Given the description of an element on the screen output the (x, y) to click on. 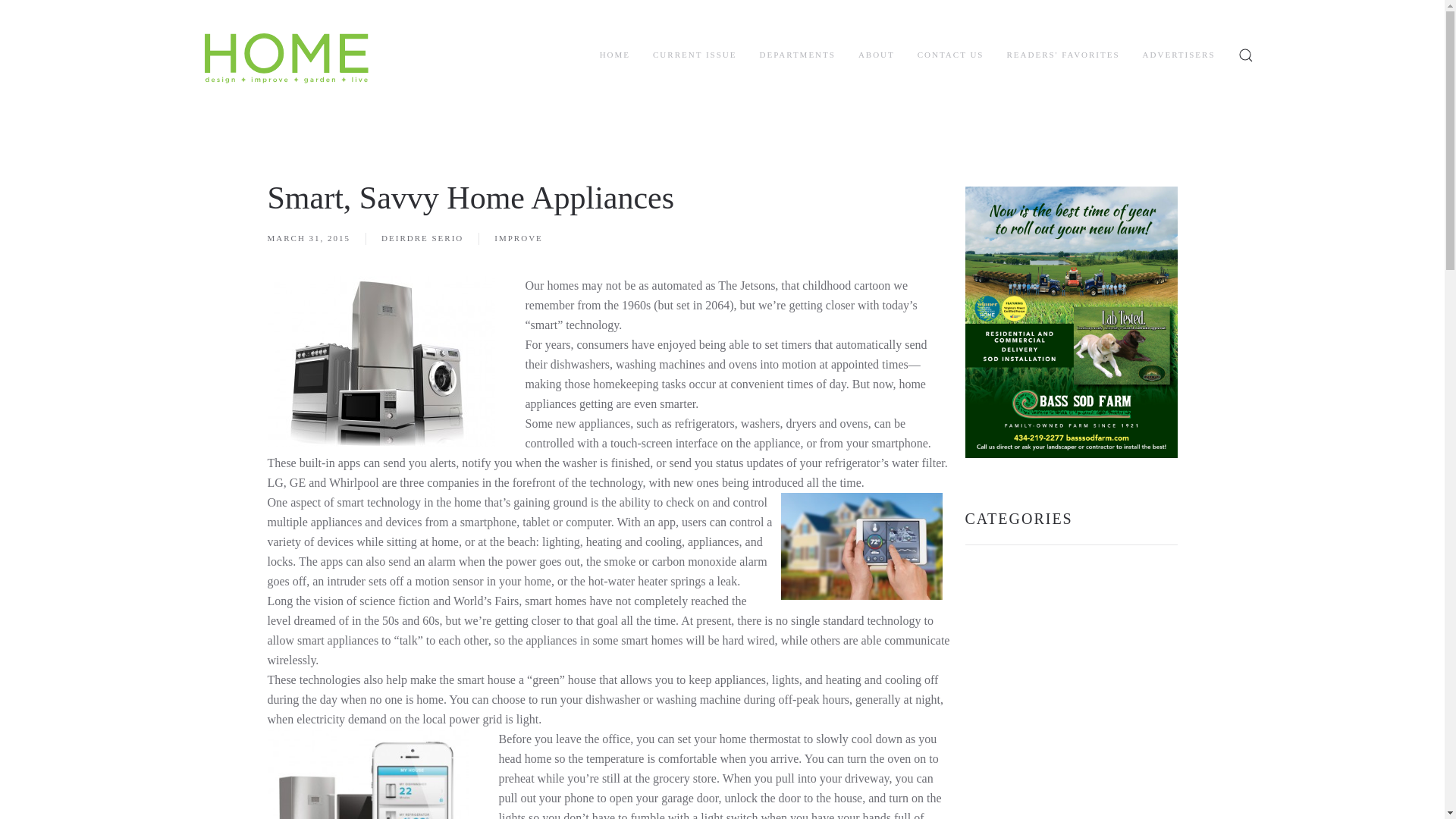
Home appliances. Set of household kitchen technics (380, 361)
READERS' FAVORITES (1062, 55)
CONTACT US (950, 55)
DEPARTMENTS (796, 55)
DEIRDRE SERIO (422, 238)
homeappliancesf (861, 546)
CURRENT ISSUE (694, 55)
IMPROVE (519, 238)
ADVERTISERS (1178, 55)
homeappliancesc (366, 774)
